Given the description of an element on the screen output the (x, y) to click on. 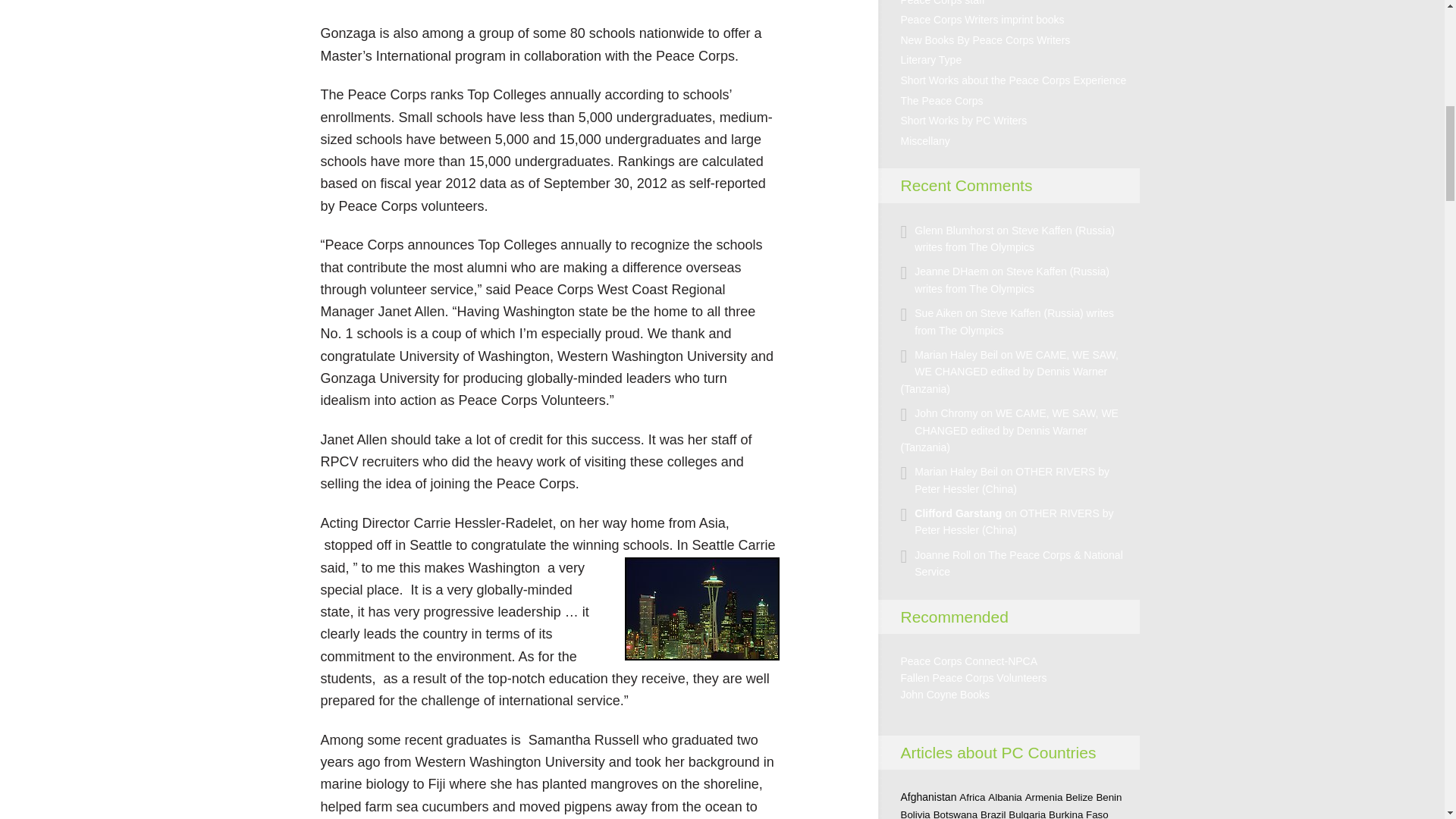
Peace Corps Writers imprint books (982, 19)
12 topics (955, 814)
21 topics (928, 797)
7 topics (1043, 797)
3 topics (1108, 797)
7 topics (972, 797)
9 topics (992, 814)
12 topics (915, 814)
3 topics (1005, 797)
11 topics (1079, 797)
Peace Corps staff (943, 2)
6 topics (1027, 814)
